Given the description of an element on the screen output the (x, y) to click on. 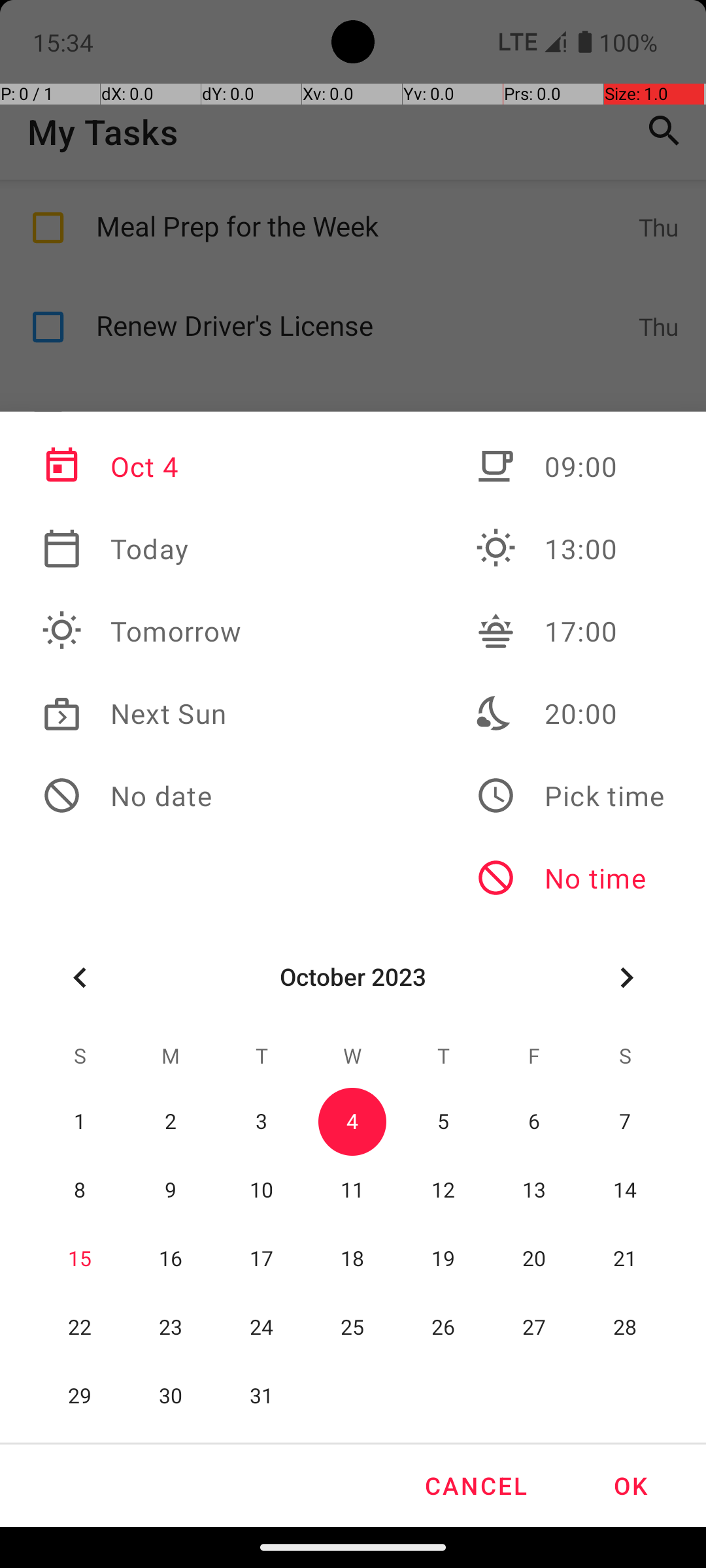
Oct 4 Element type: android.widget.CompoundButton (141, 466)
